Given the description of an element on the screen output the (x, y) to click on. 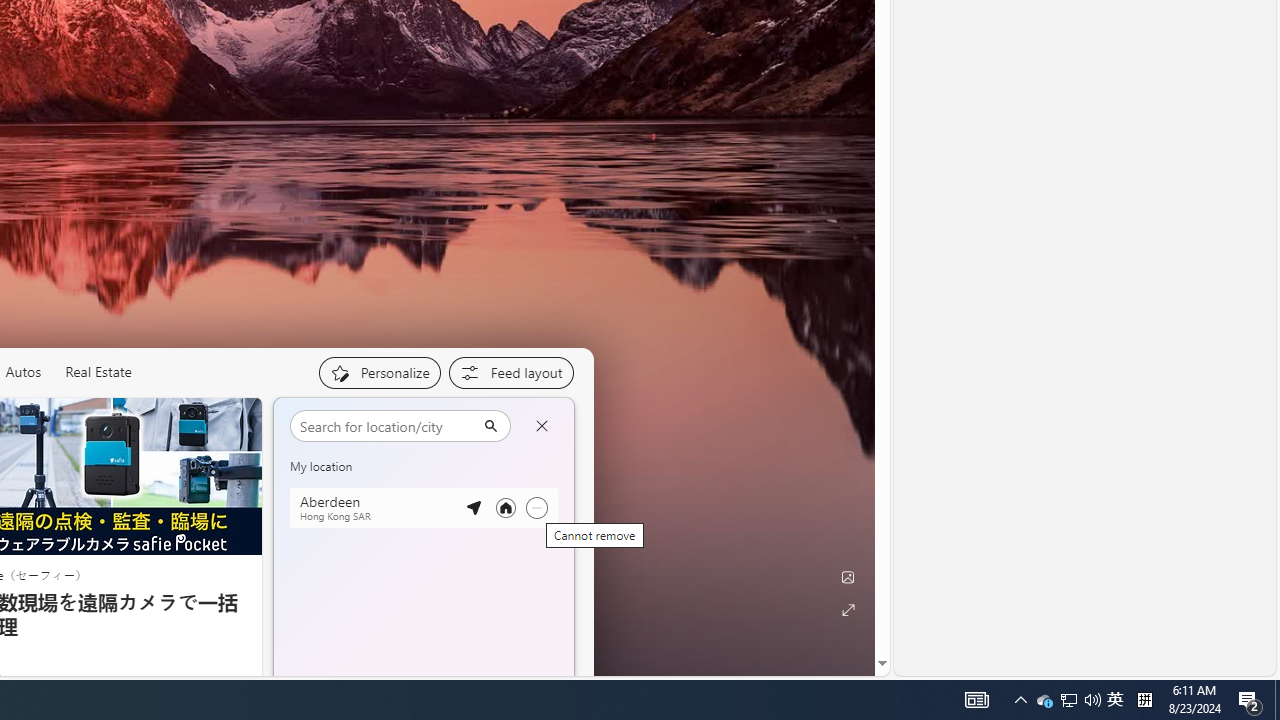
Daily (378, 516)
Cannot remove (536, 507)
Set as your primary location (505, 507)
Class: weather-arrow-glyph (554, 474)
My location (362, 421)
Cancel (541, 425)
Class: icon-img (543, 421)
Sunny (369, 585)
